Given the description of an element on the screen output the (x, y) to click on. 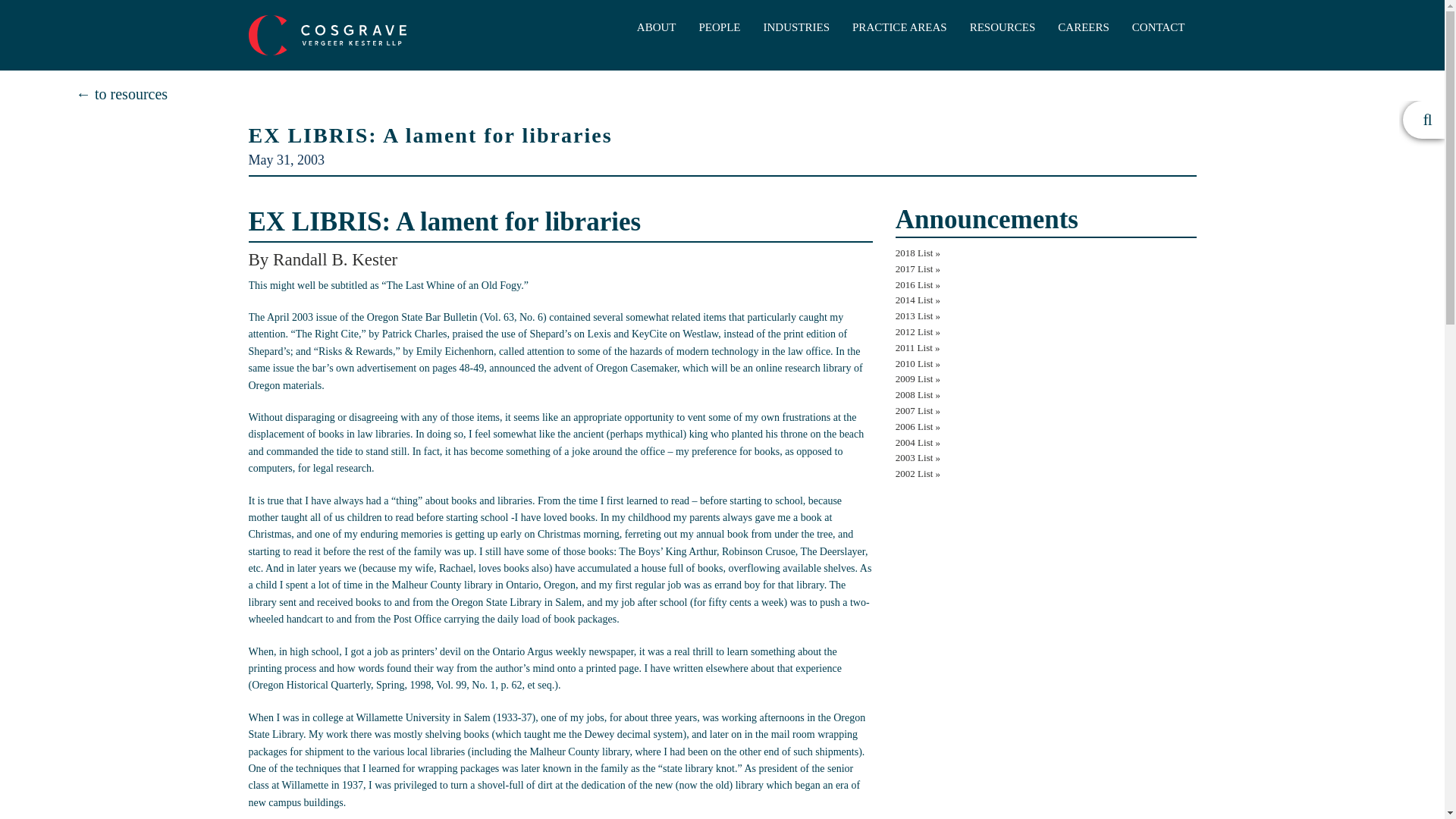
INDUSTRIES (796, 27)
ABOUT (656, 27)
PRACTICE AREAS (899, 27)
Cosgrave Vergeer Kester (327, 33)
PEOPLE (719, 27)
